Given the description of an element on the screen output the (x, y) to click on. 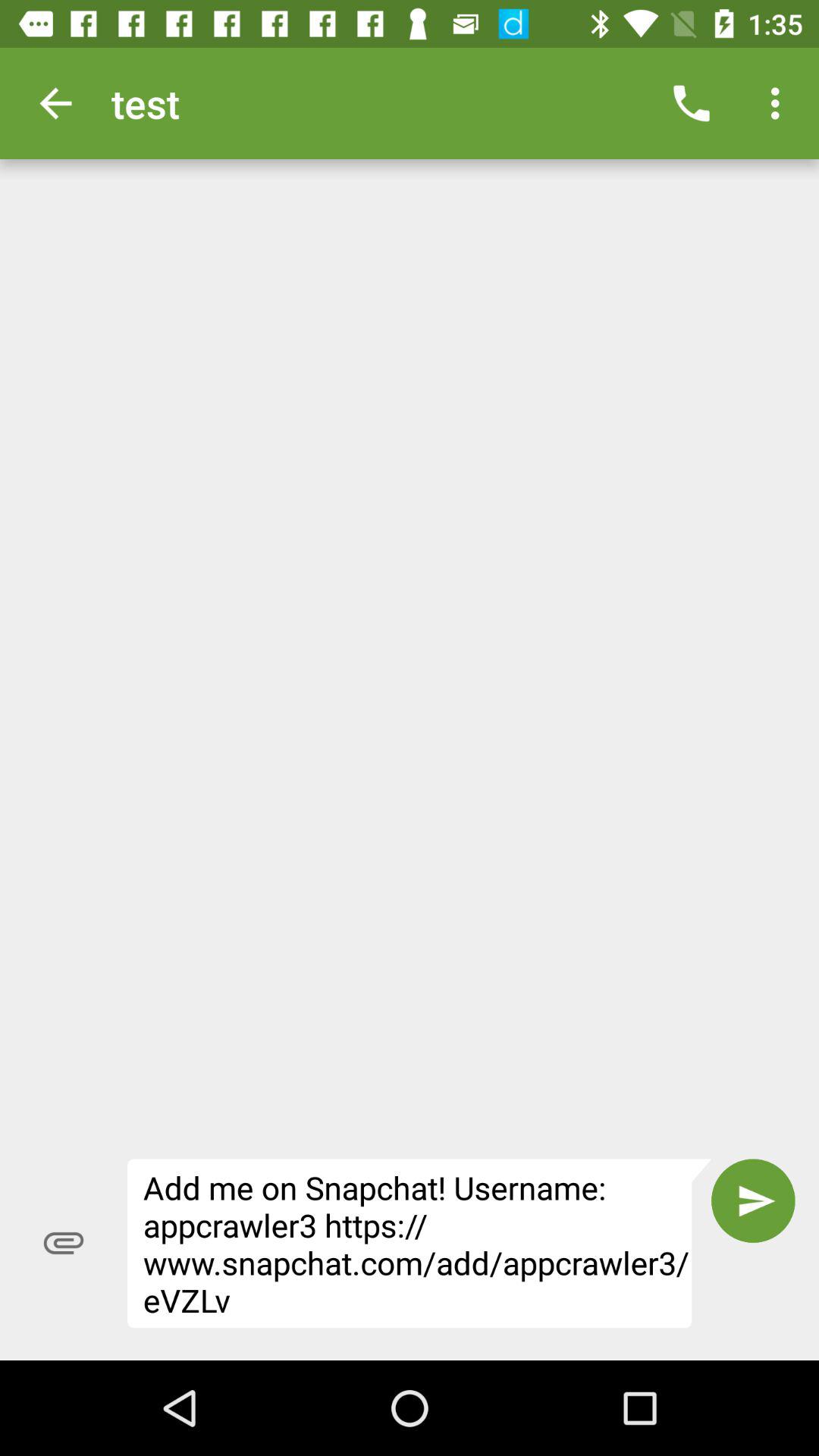
press the add me on item (419, 1243)
